Given the description of an element on the screen output the (x, y) to click on. 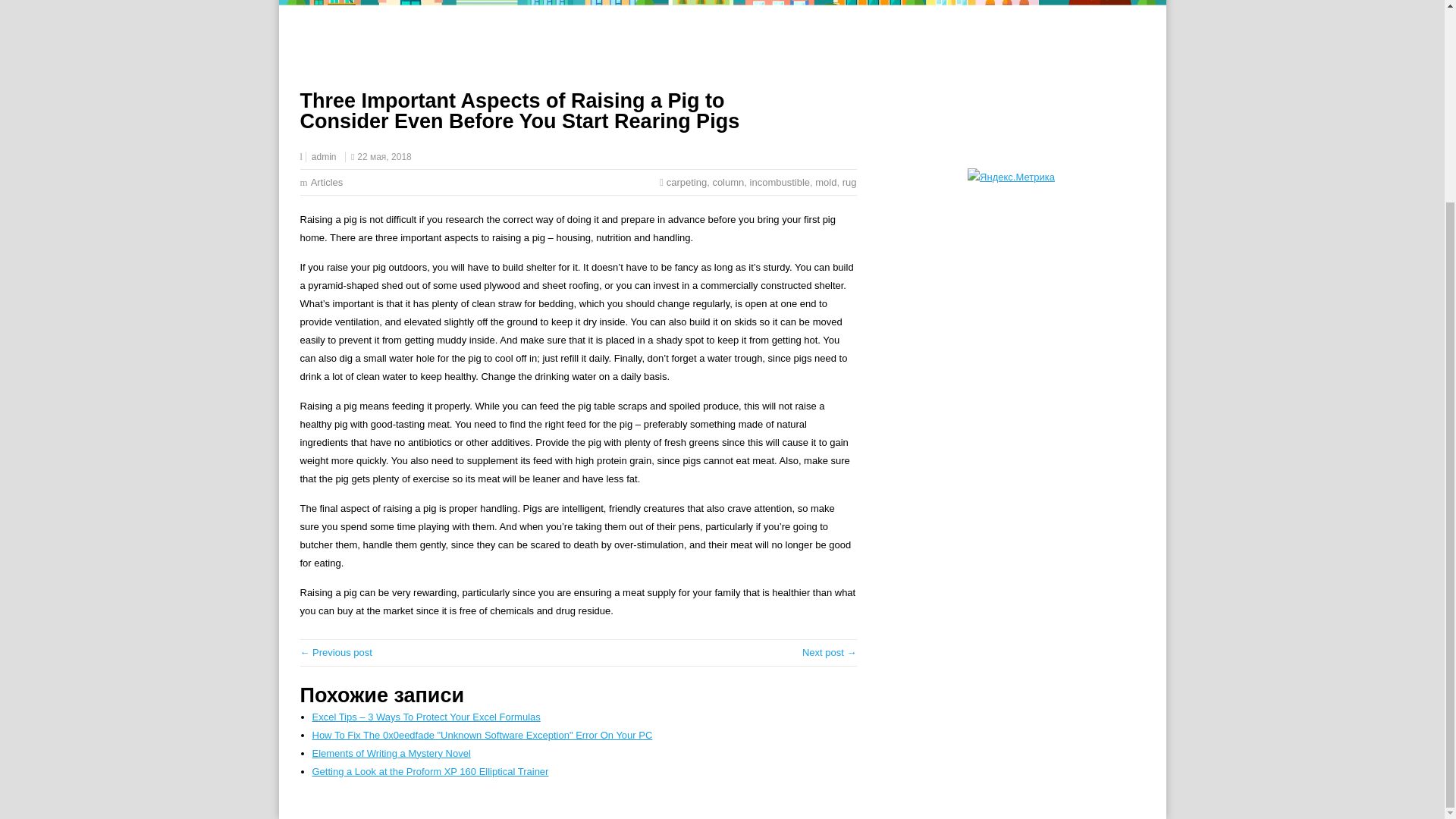
Advantages of Wooden Side Gates for Your Home (829, 652)
Elements of Writing a Mystery Novel (391, 753)
Articles (327, 182)
incombustible (779, 182)
carpeting (686, 182)
rug (850, 182)
admin (323, 156)
mold (825, 182)
How To Select The Best Rainwater Diverter For Your Home (335, 652)
